Given the description of an element on the screen output the (x, y) to click on. 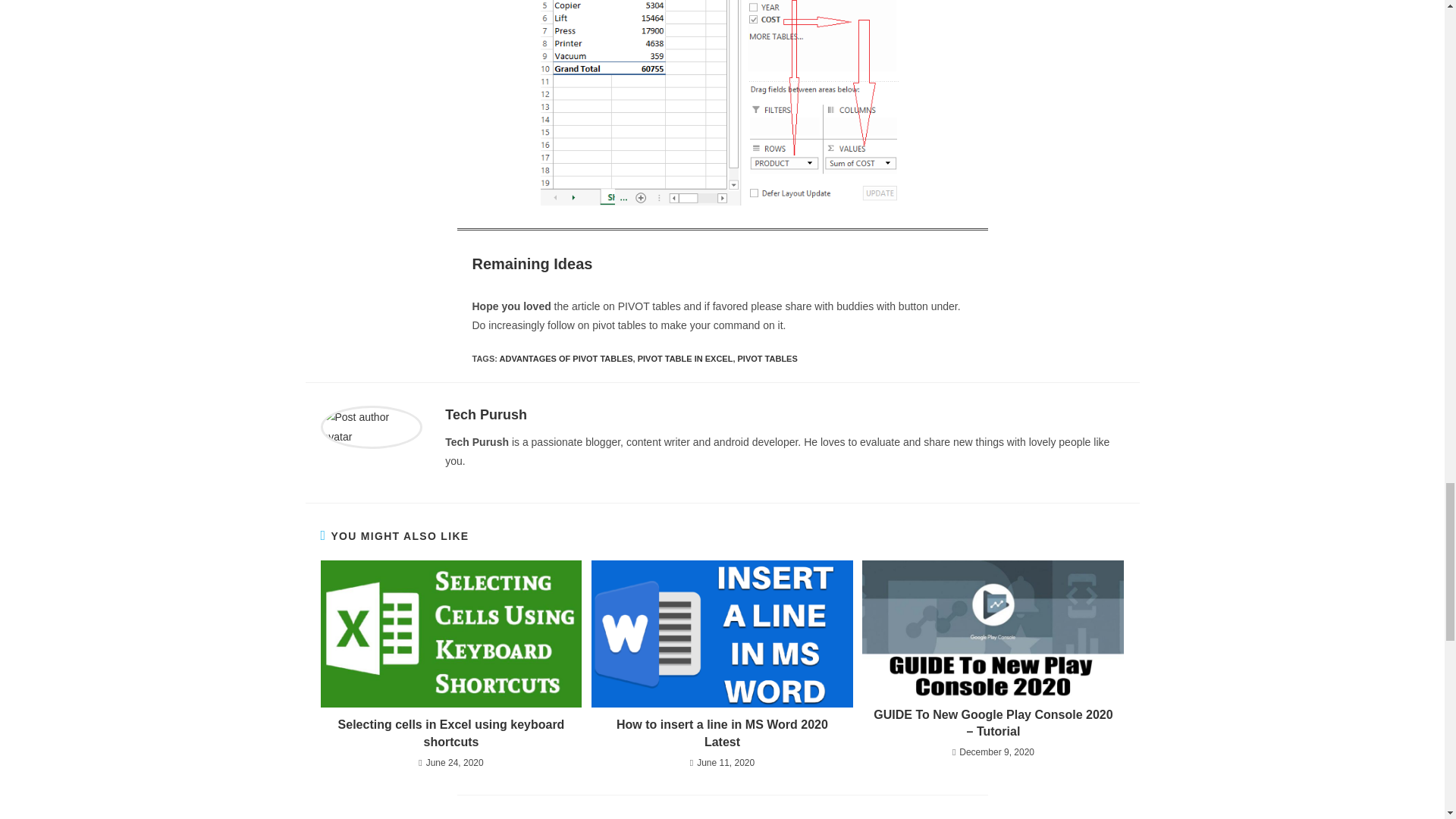
Visit author page (371, 426)
Visit author page (486, 414)
Selecting cells in Excel using keyboard shortcuts Excel (450, 633)
